Given the description of an element on the screen output the (x, y) to click on. 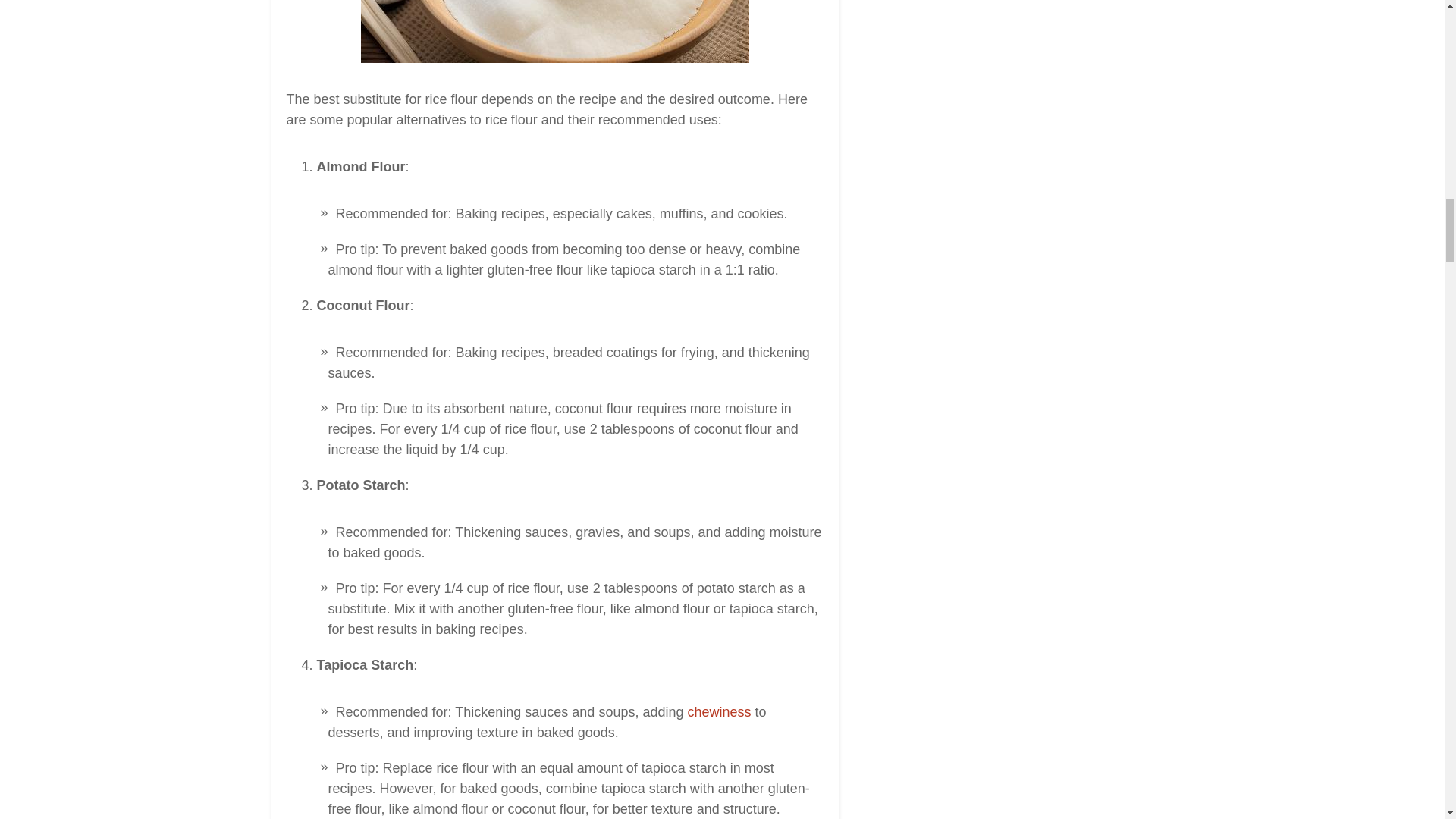
chewiness (719, 711)
